Given the description of an element on the screen output the (x, y) to click on. 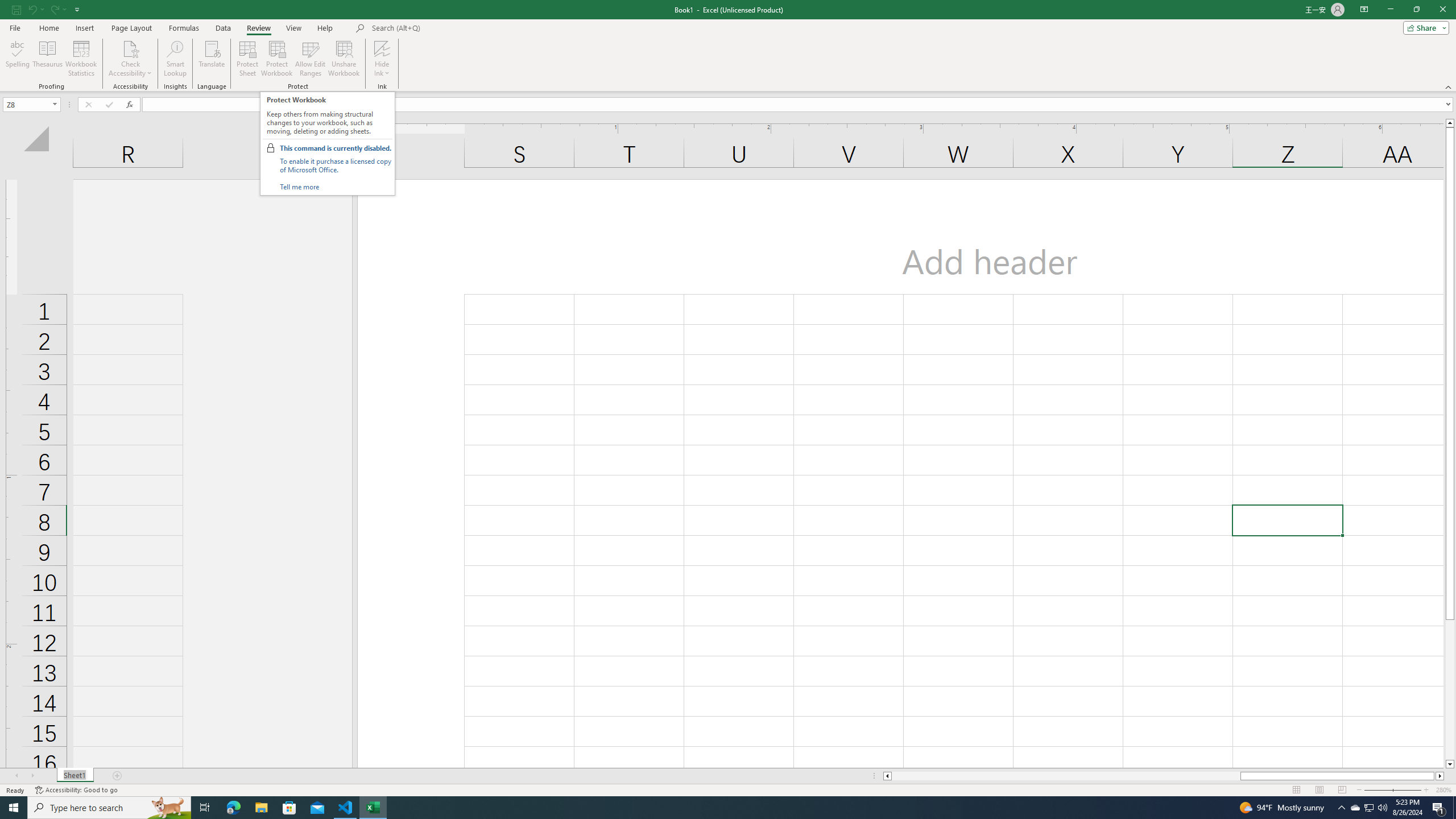
Allow Edit Ranges (310, 58)
Protect Workbook... (277, 58)
